Given the description of an element on the screen output the (x, y) to click on. 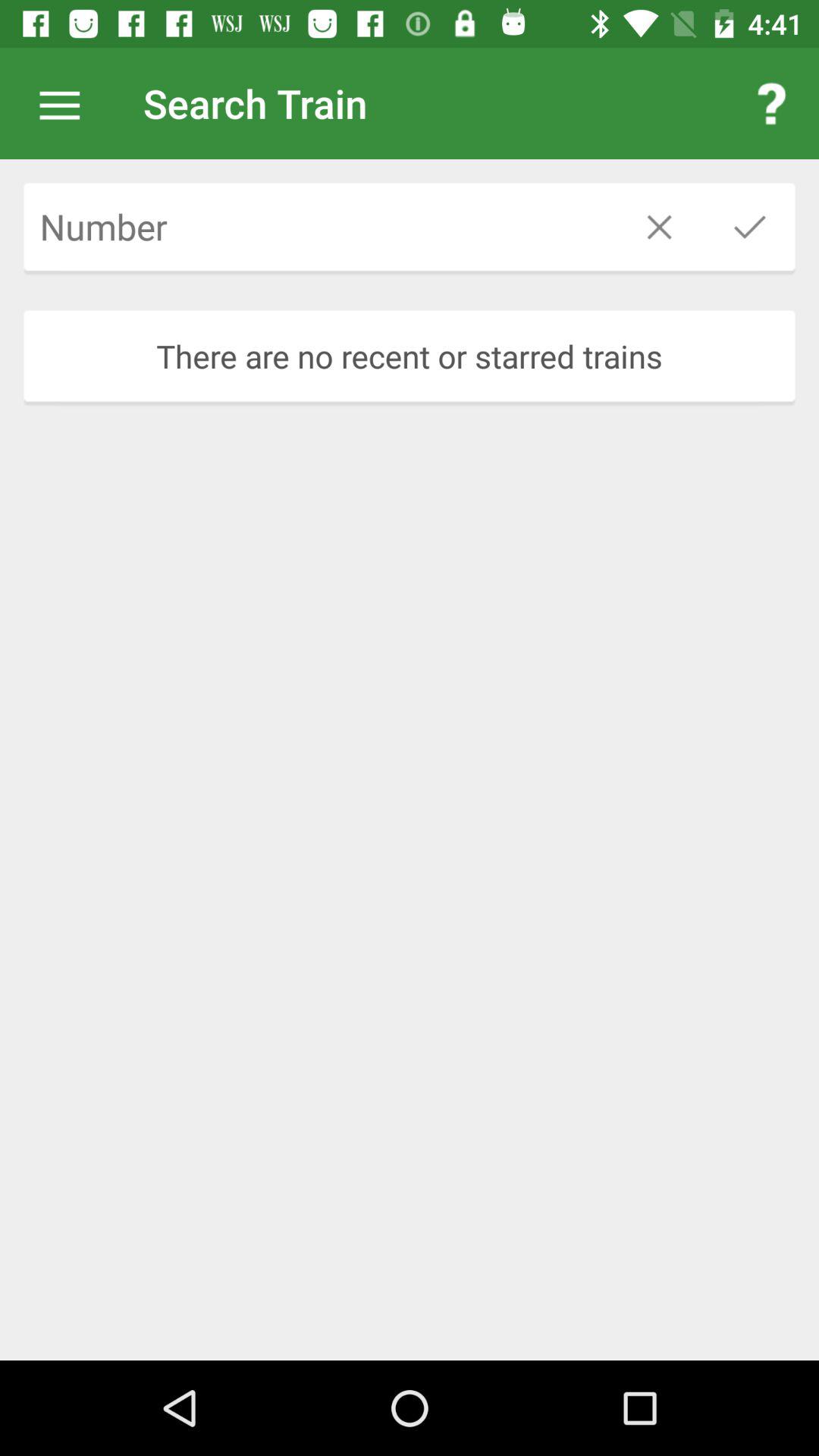
press item above there are no icon (318, 226)
